Given the description of an element on the screen output the (x, y) to click on. 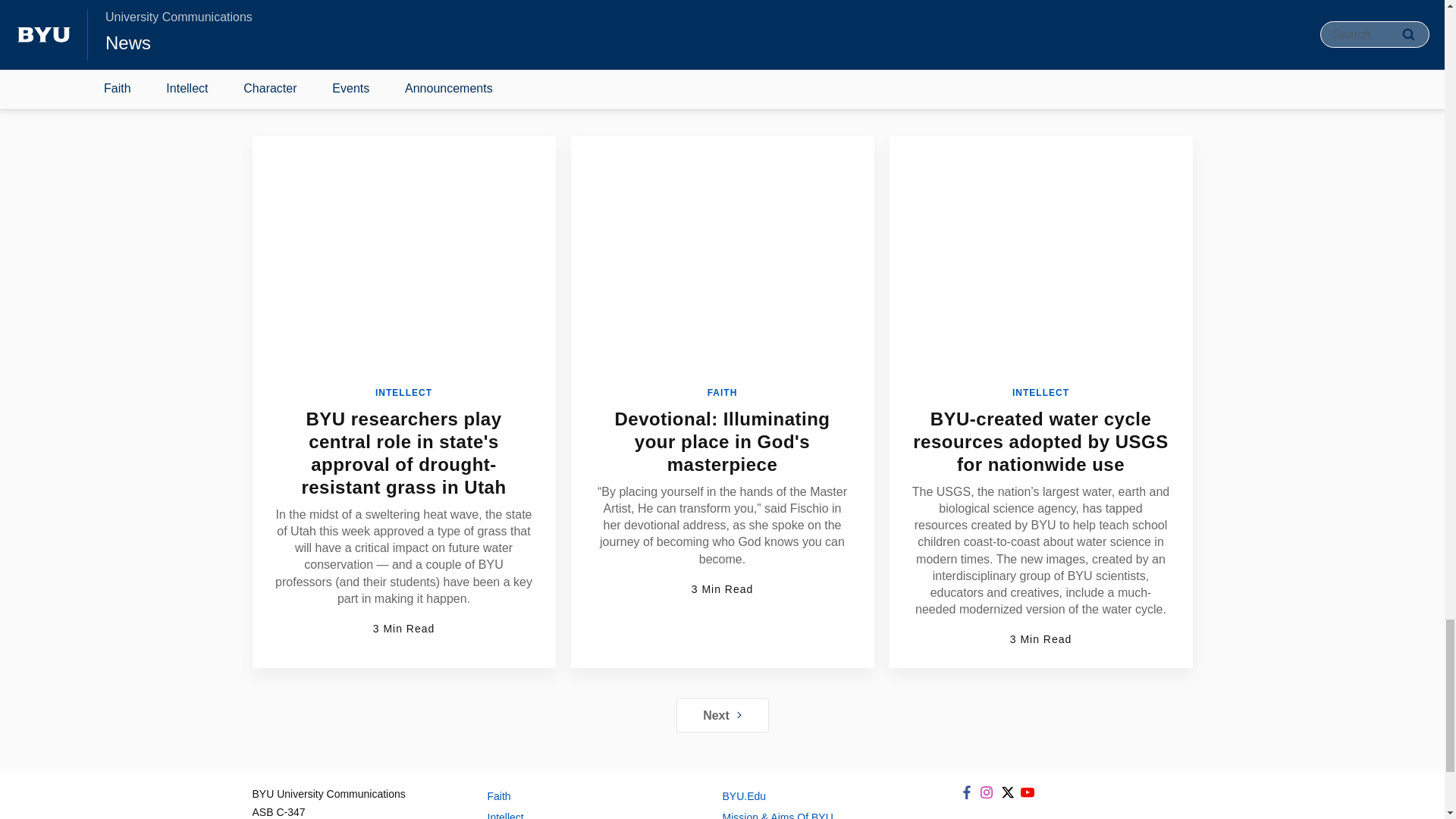
INTELLECT (403, 392)
Next (722, 715)
LIFE SCIENCES (641, 16)
FAITH (722, 392)
INTELLECT (1039, 392)
Devotional: Illuminating your place in God's masterpiece (721, 441)
Faith (588, 795)
